Given the description of an element on the screen output the (x, y) to click on. 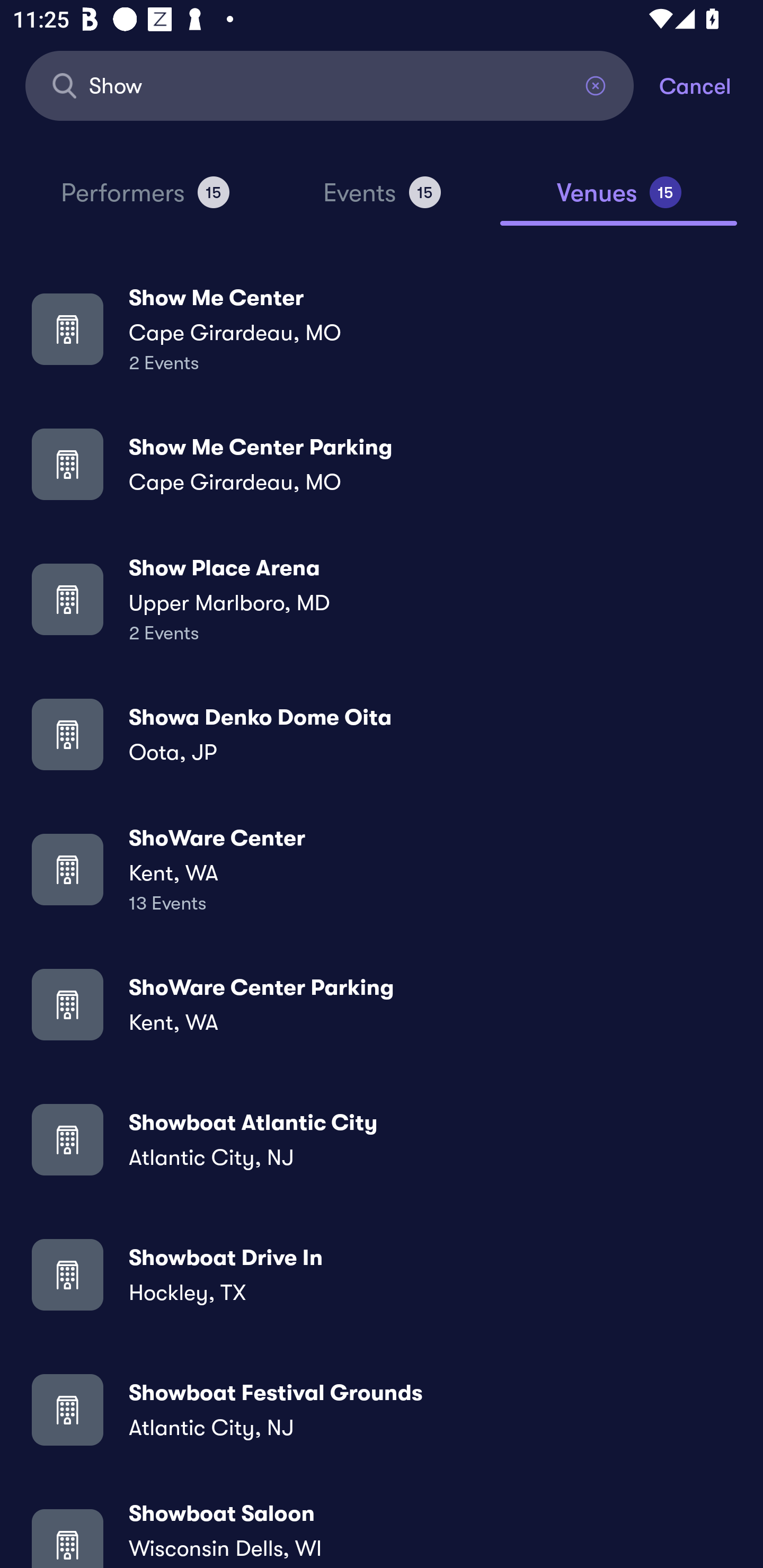
Show Find (329, 85)
Show Find (329, 85)
Cancel (711, 85)
Performers 15 (144, 200)
Events 15 (381, 200)
Venues 15 (618, 200)
Show Me Center Cape Girardeau, MO 2 Events (381, 328)
Show Me Center Parking Cape Girardeau, MO (381, 464)
Show Place Arena Upper Marlboro, MD 2 Events (381, 598)
Showa Denko Dome Oita Oota, JP (381, 734)
ShoWare Center Kent, WA 13 Events (381, 869)
ShoWare Center Parking Kent, WA (381, 1004)
Showboat Atlantic City Atlantic City, NJ (381, 1138)
Showboat Drive In Hockley, TX (381, 1273)
Showboat Festival Grounds Atlantic City, NJ (381, 1409)
Showboat Saloon Wisconsin Dells, WI 2 Events (381, 1532)
